Given the description of an element on the screen output the (x, y) to click on. 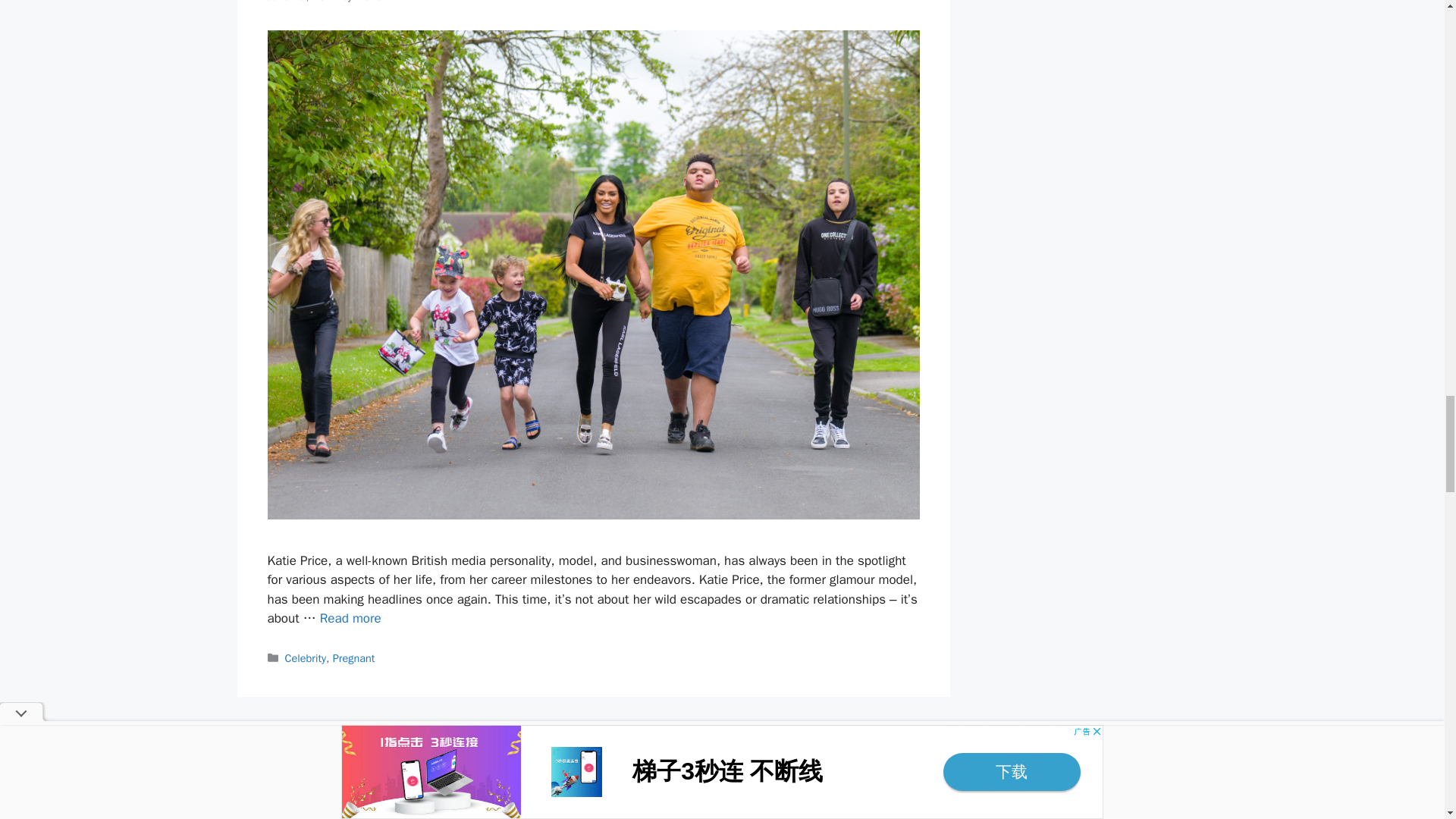
View all posts by Mansi (369, 1)
Mansi (369, 1)
